Given the description of an element on the screen output the (x, y) to click on. 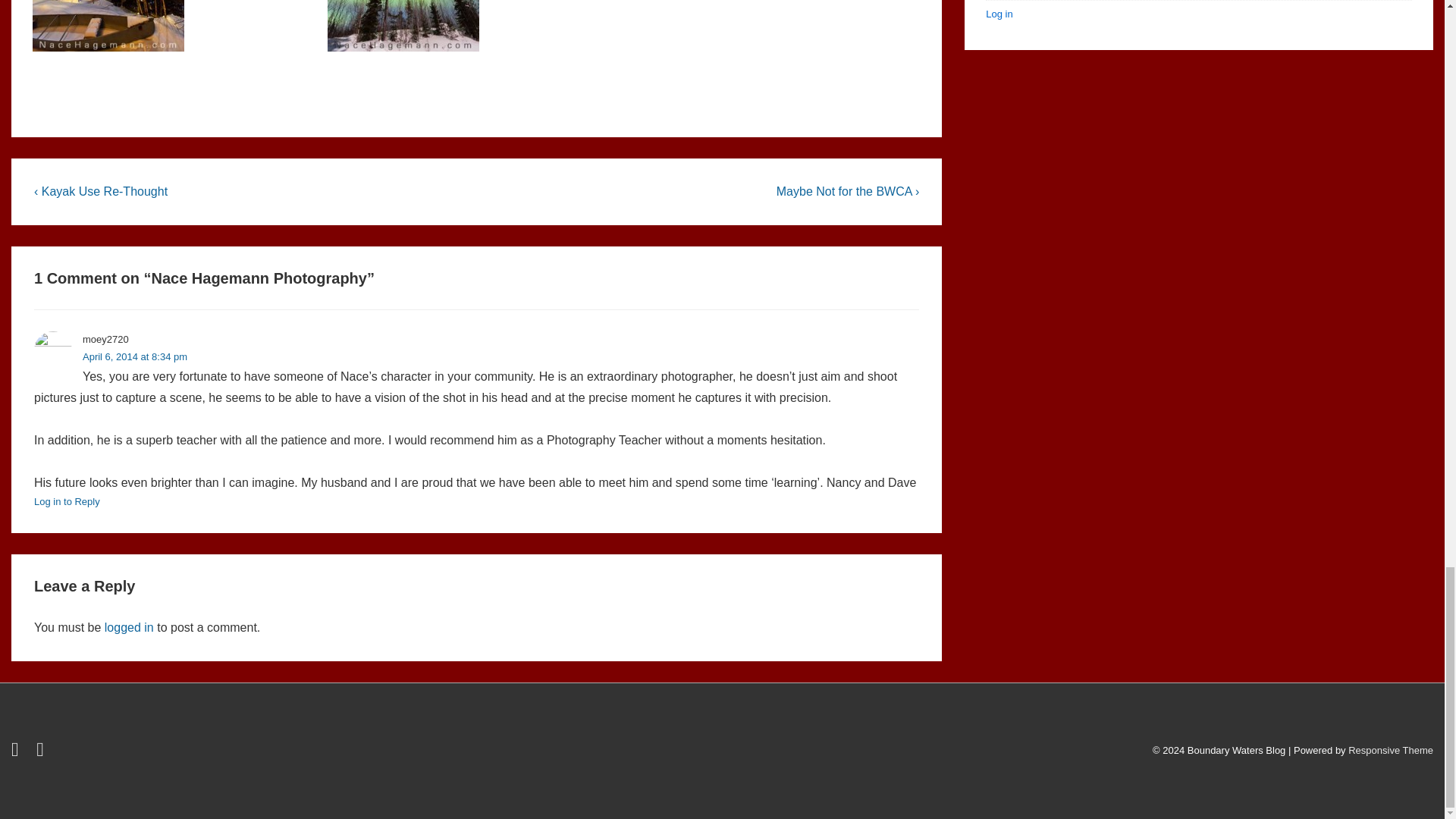
facebook (42, 752)
April 6, 2014 at 8:34 pm (134, 356)
Log in to Reply (66, 501)
twitter (17, 752)
logged in (129, 626)
